Given the description of an element on the screen output the (x, y) to click on. 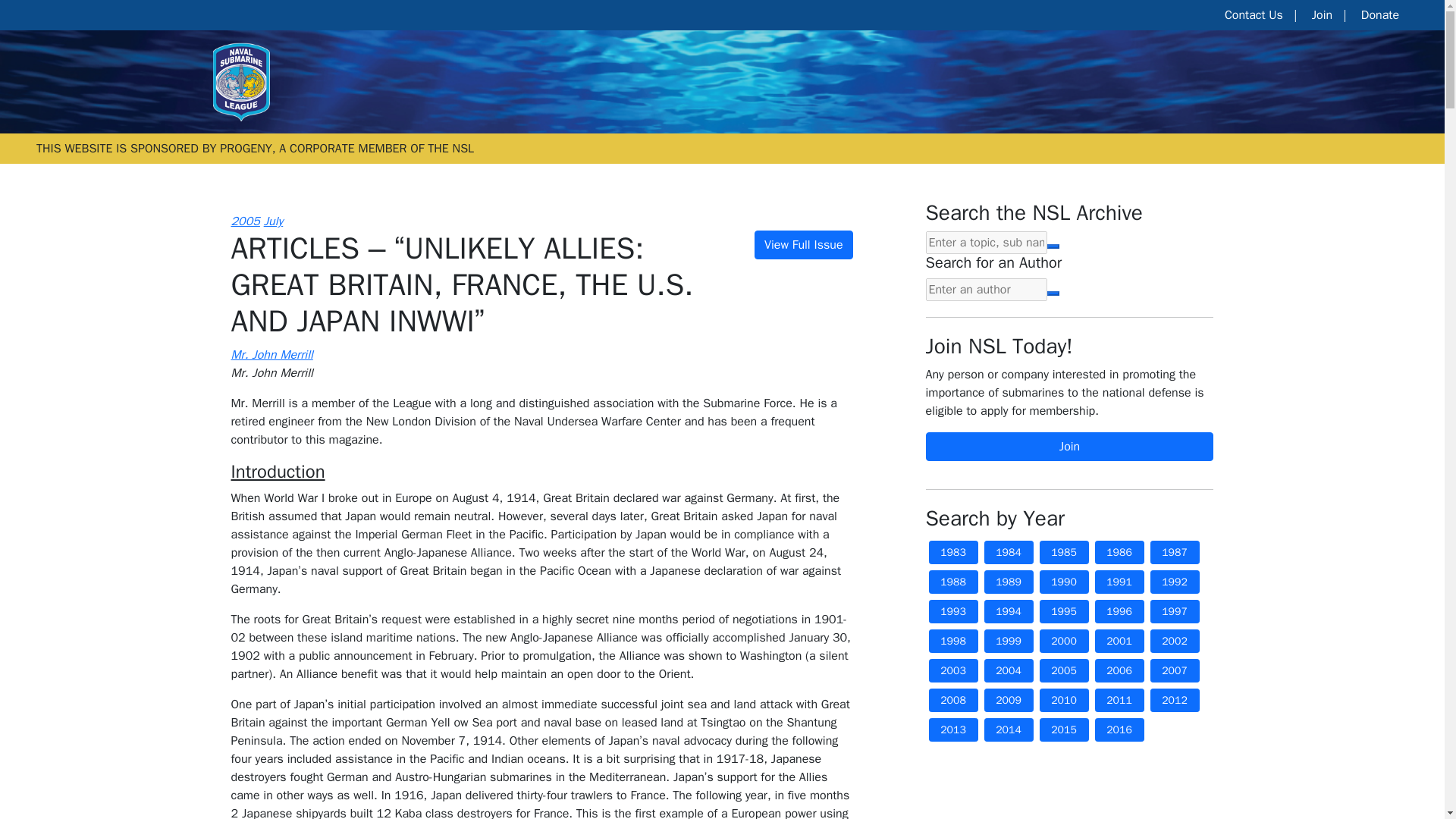
Join (1068, 446)
1985 (1063, 552)
2000 (1063, 640)
1998 (952, 640)
View Full Issue (803, 244)
Mr. John Merrill (271, 354)
July (273, 221)
Contact Us (1253, 14)
2007 (1174, 670)
1983 (952, 552)
1988 (952, 581)
1997 (1174, 611)
1989 (1008, 581)
1993 (952, 611)
1990 (1063, 581)
